Given the description of an element on the screen output the (x, y) to click on. 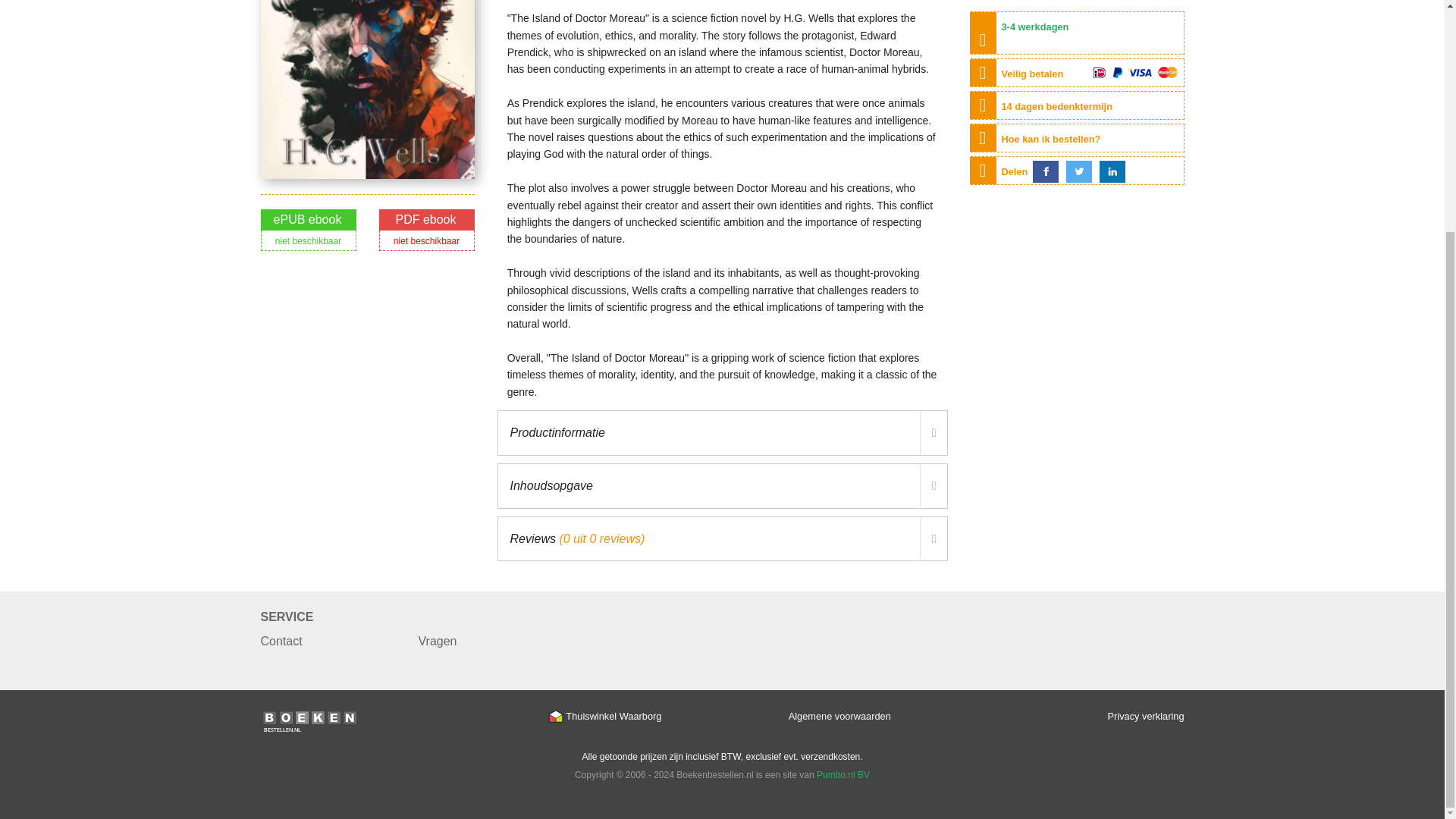
Boek cover The Island of Doctor Moreau (367, 89)
Productinformatie (722, 432)
Thuiswinkel Certificaat (604, 715)
Hoe kan ik bestellen? (1050, 138)
Je eigen boek uitgeven of drukken met Pumbo.nl (842, 774)
Inhoudsopgave (722, 485)
